Given the description of an element on the screen output the (x, y) to click on. 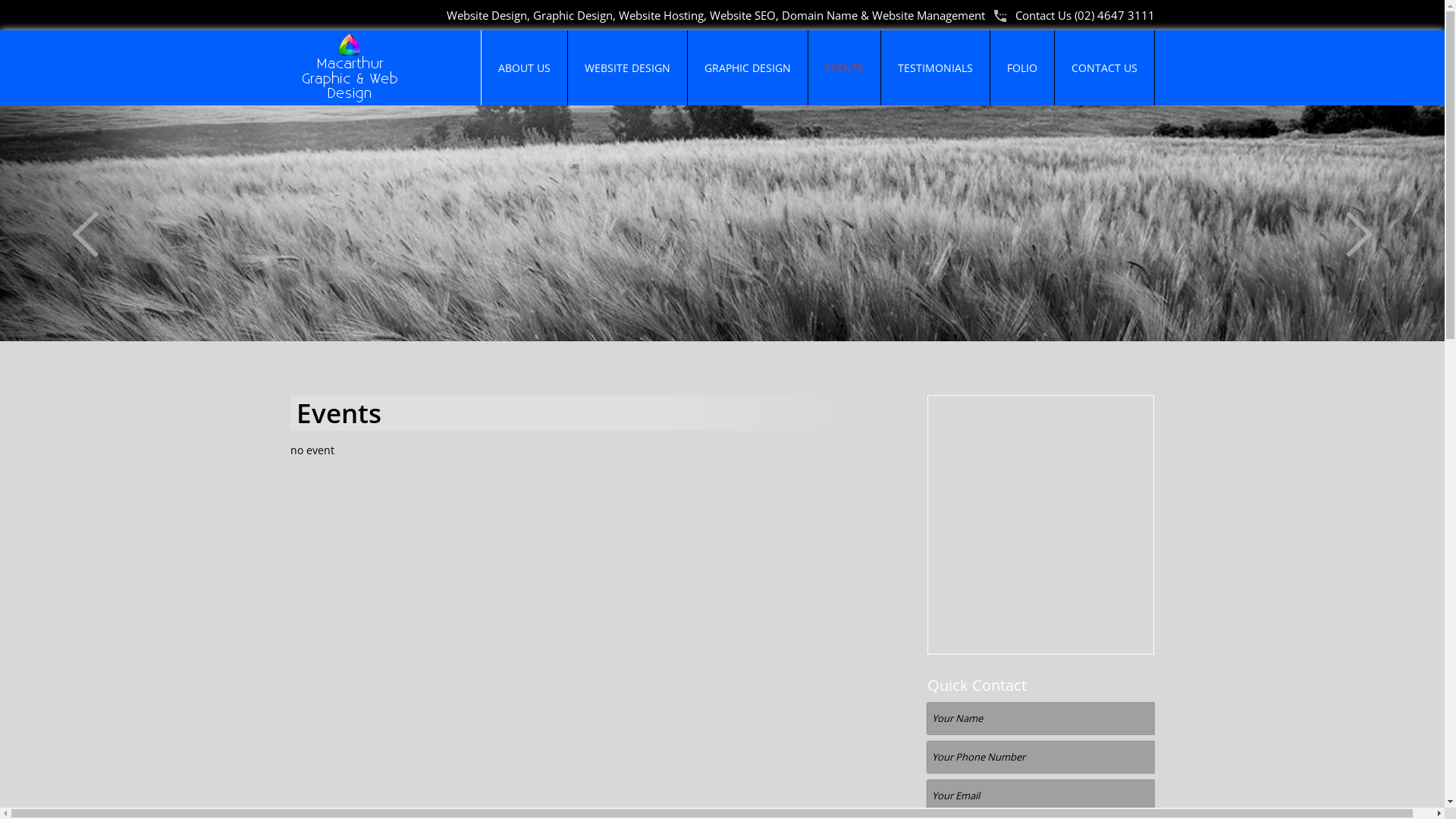
FOLIO Element type: text (1022, 67)
EVENTS Element type: text (844, 67)
GRAPHIC DESIGN Element type: text (746, 67)
false Element type: text (1359, 234)
TESTIMONIALS Element type: text (934, 67)
false Element type: text (85, 234)
WEBSITE DESIGN Element type: text (626, 67)
ABOUT US Element type: text (523, 67)
CONTACT US Element type: text (1103, 67)
